Given the description of an element on the screen output the (x, y) to click on. 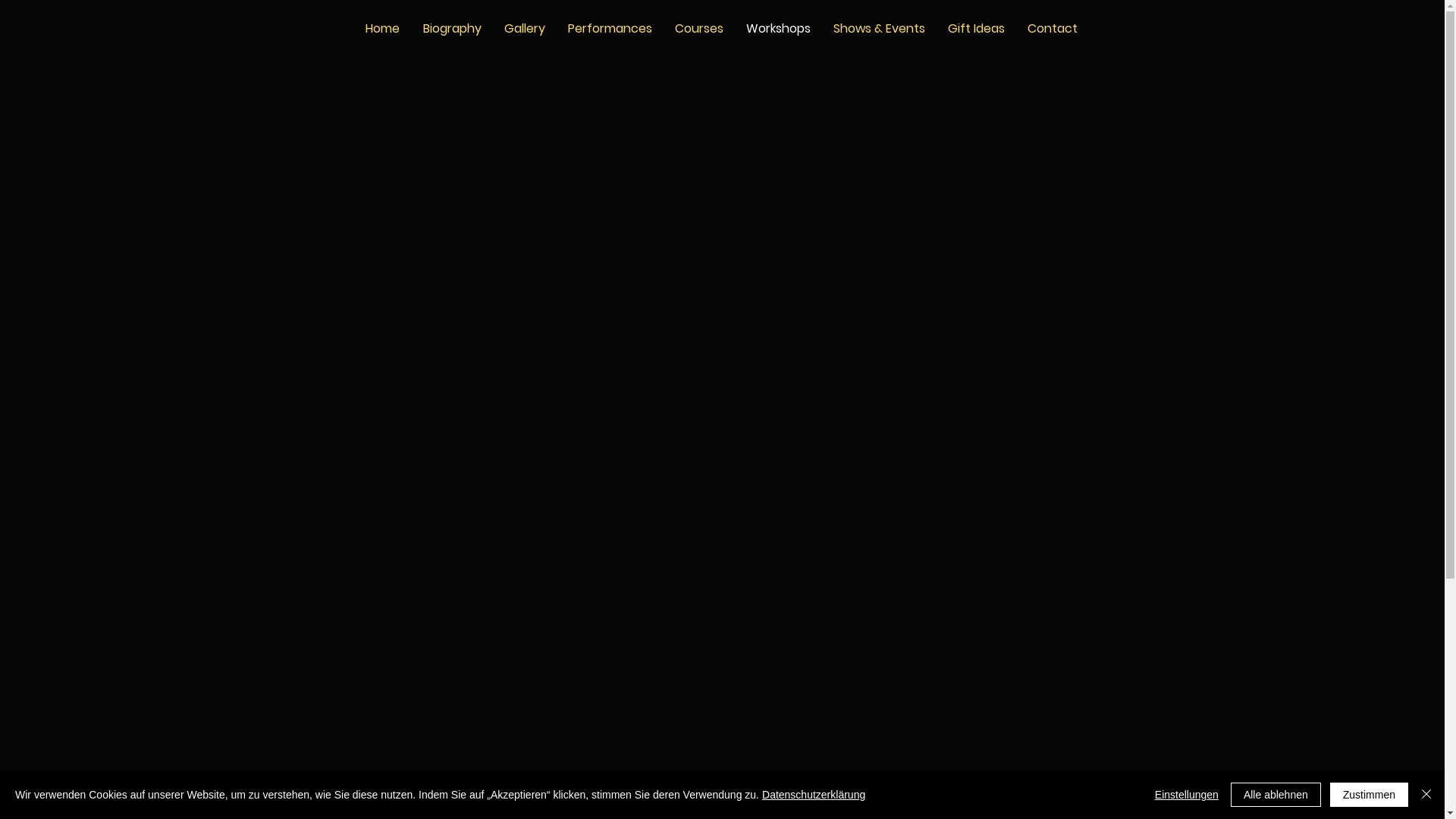
Alle ablehnen Element type: text (1275, 794)
Biography Element type: text (451, 25)
Courses Element type: text (698, 25)
Gallery Element type: text (524, 25)
Contact Element type: text (1052, 25)
Shows & Events Element type: text (879, 25)
Workshops Element type: text (777, 25)
Zustimmen Element type: text (1369, 794)
Performances Element type: text (609, 25)
Gift Ideas Element type: text (975, 25)
Home Element type: text (382, 25)
